Given the description of an element on the screen output the (x, y) to click on. 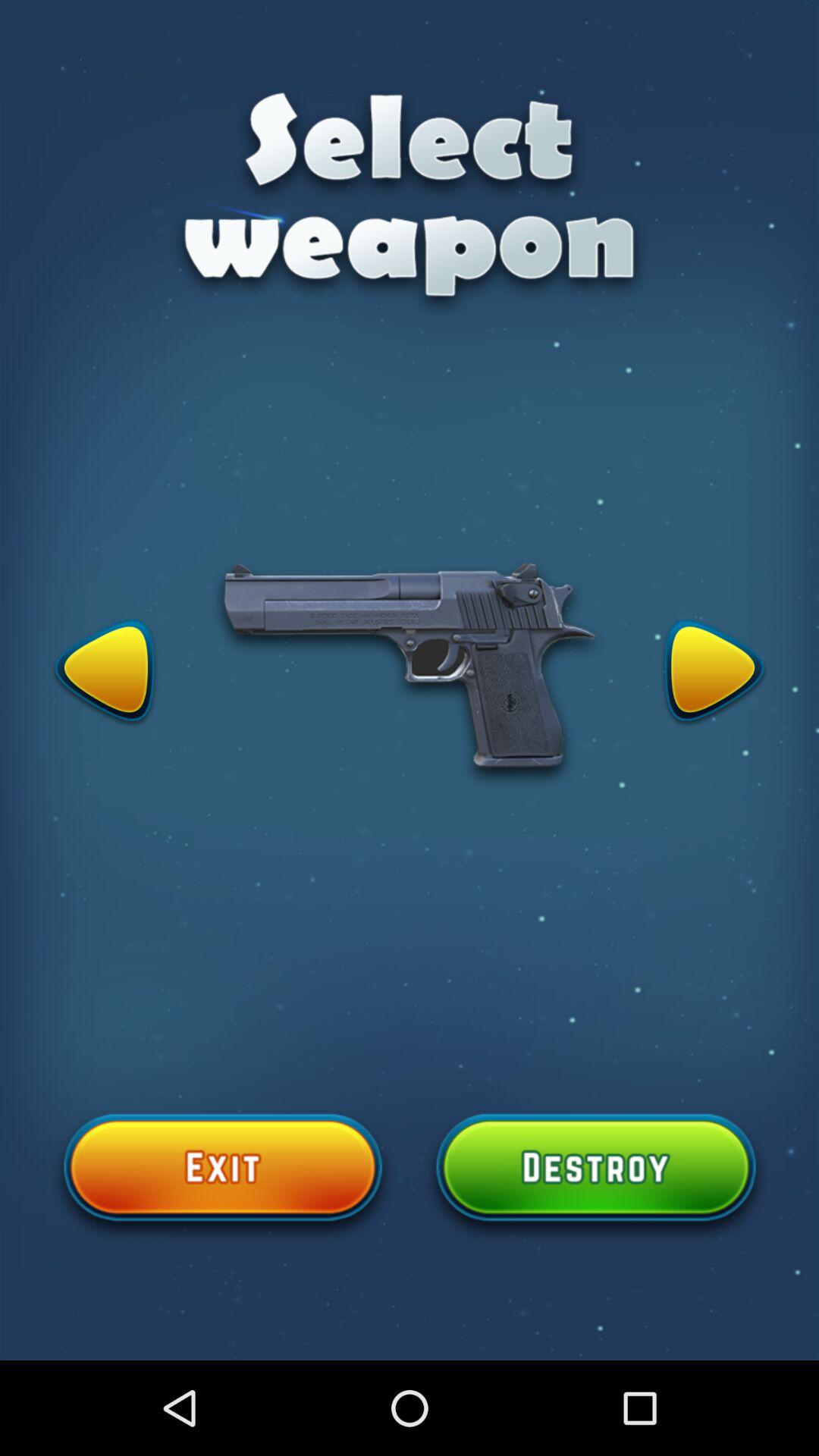
exit screen (222, 1176)
